Given the description of an element on the screen output the (x, y) to click on. 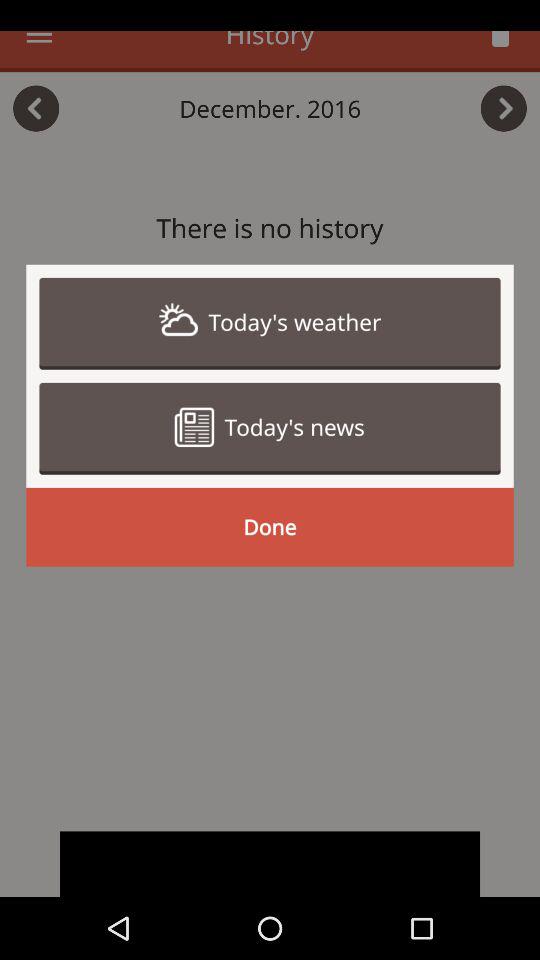
bottom scroll next (270, 864)
